Given the description of an element on the screen output the (x, y) to click on. 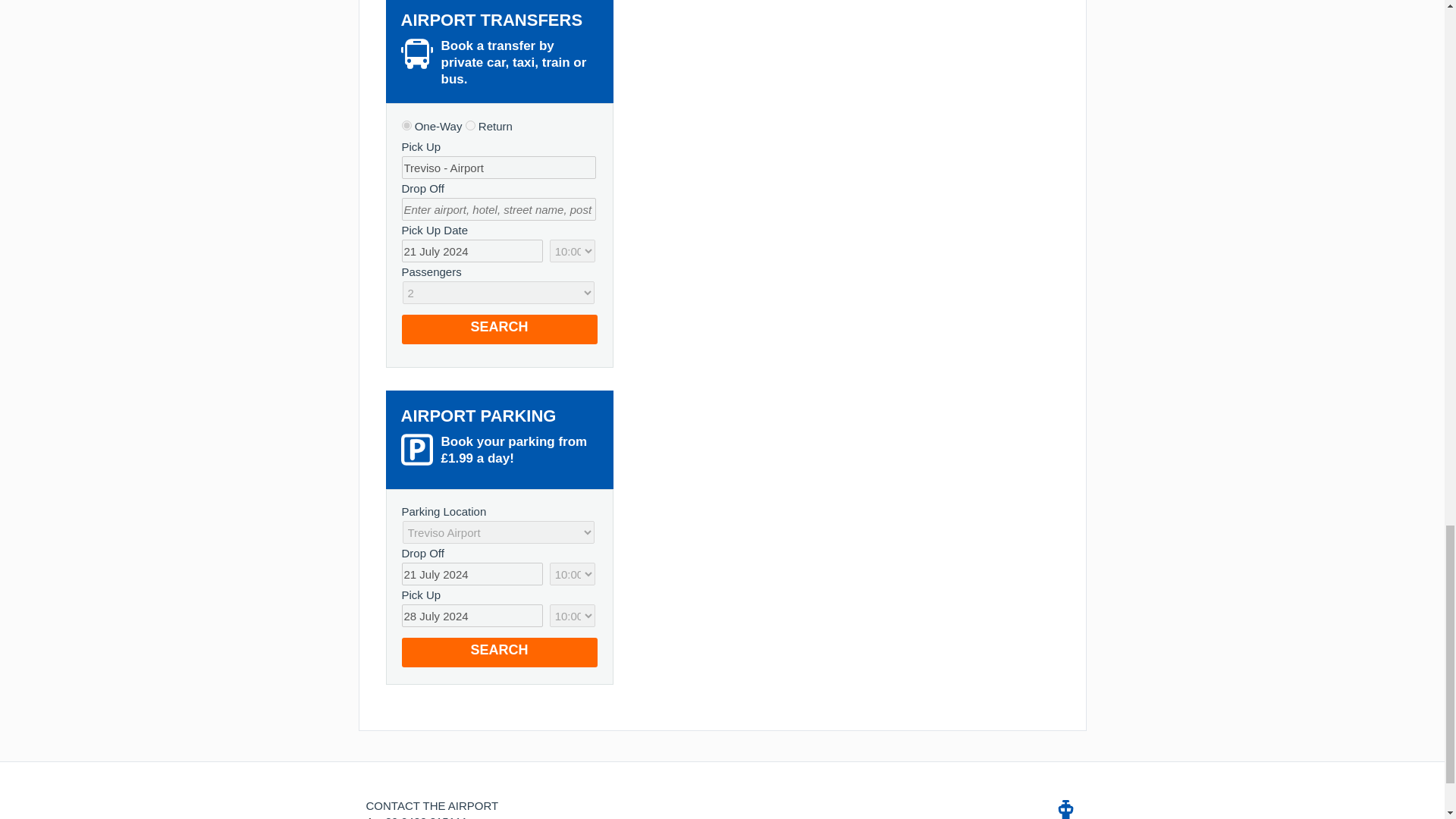
21 July 2024 (472, 573)
SEARCH (498, 652)
Treviso - Airport (498, 167)
28 July 2024 (472, 615)
false (470, 125)
true (406, 125)
SEARCH (498, 328)
21 July 2024 (472, 250)
